Given the description of an element on the screen output the (x, y) to click on. 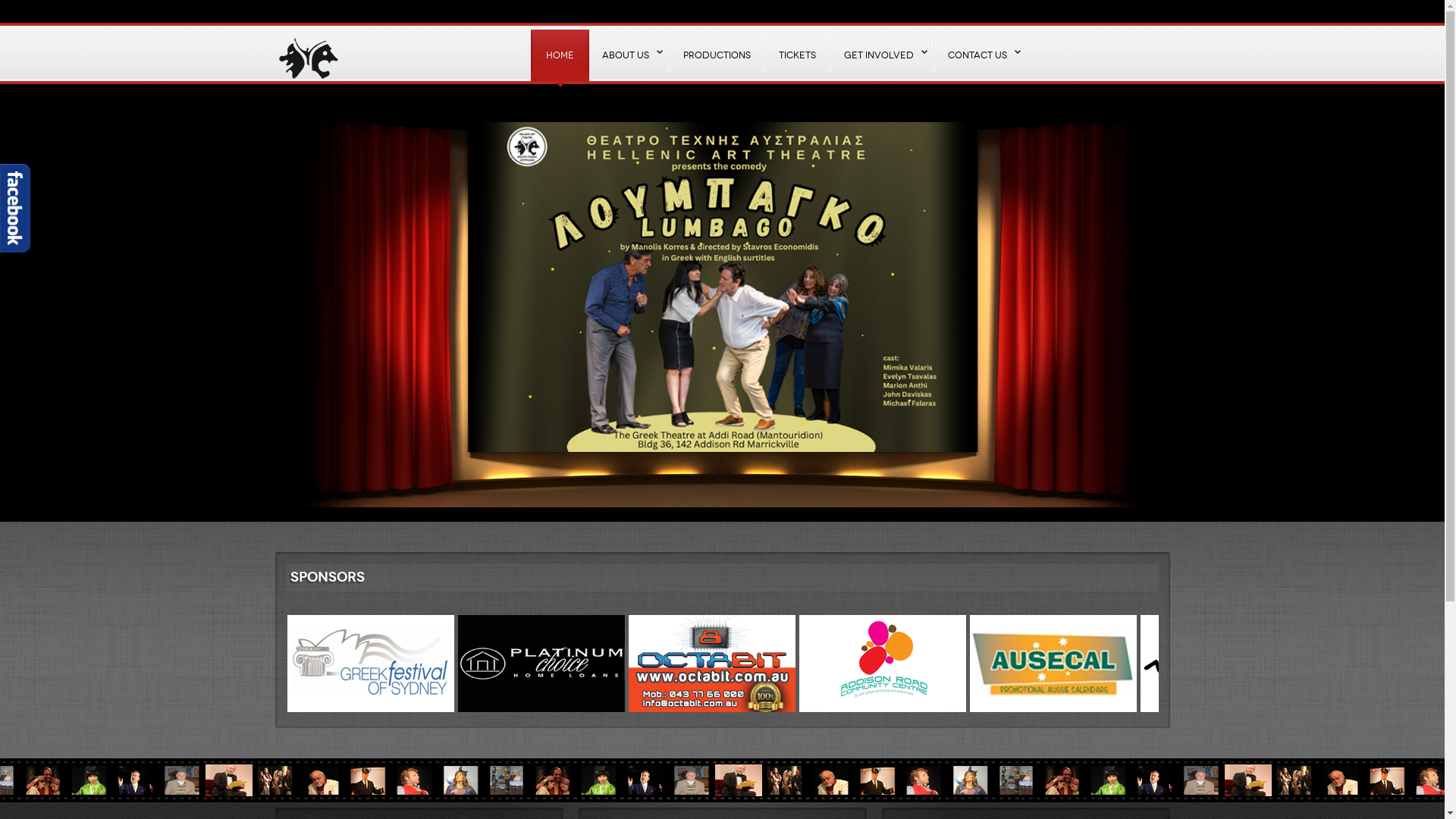
HOME Element type: text (558, 55)
PRODUCTIONS Element type: text (715, 55)
TICKETS Element type: text (795, 55)
ABOUT US Element type: text (627, 55)
